Given the description of an element on the screen output the (x, y) to click on. 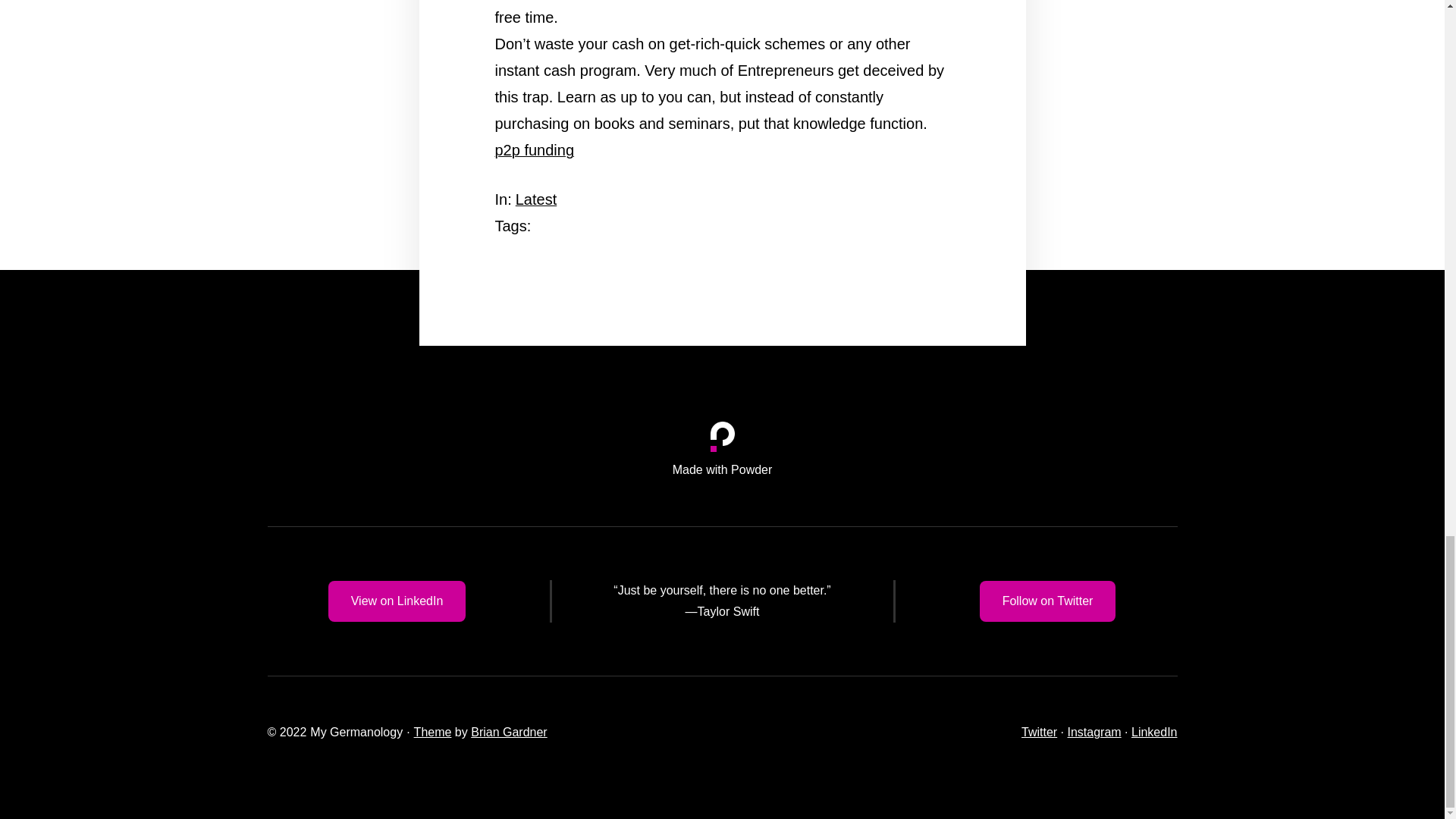
Theme (432, 731)
Latest (535, 199)
p2p funding (534, 149)
LinkedIn (1154, 731)
View on LinkedIn (397, 600)
Instagram (1094, 731)
Brian Gardner (508, 731)
Twitter (1039, 731)
Follow on Twitter (1047, 600)
